Given the description of an element on the screen output the (x, y) to click on. 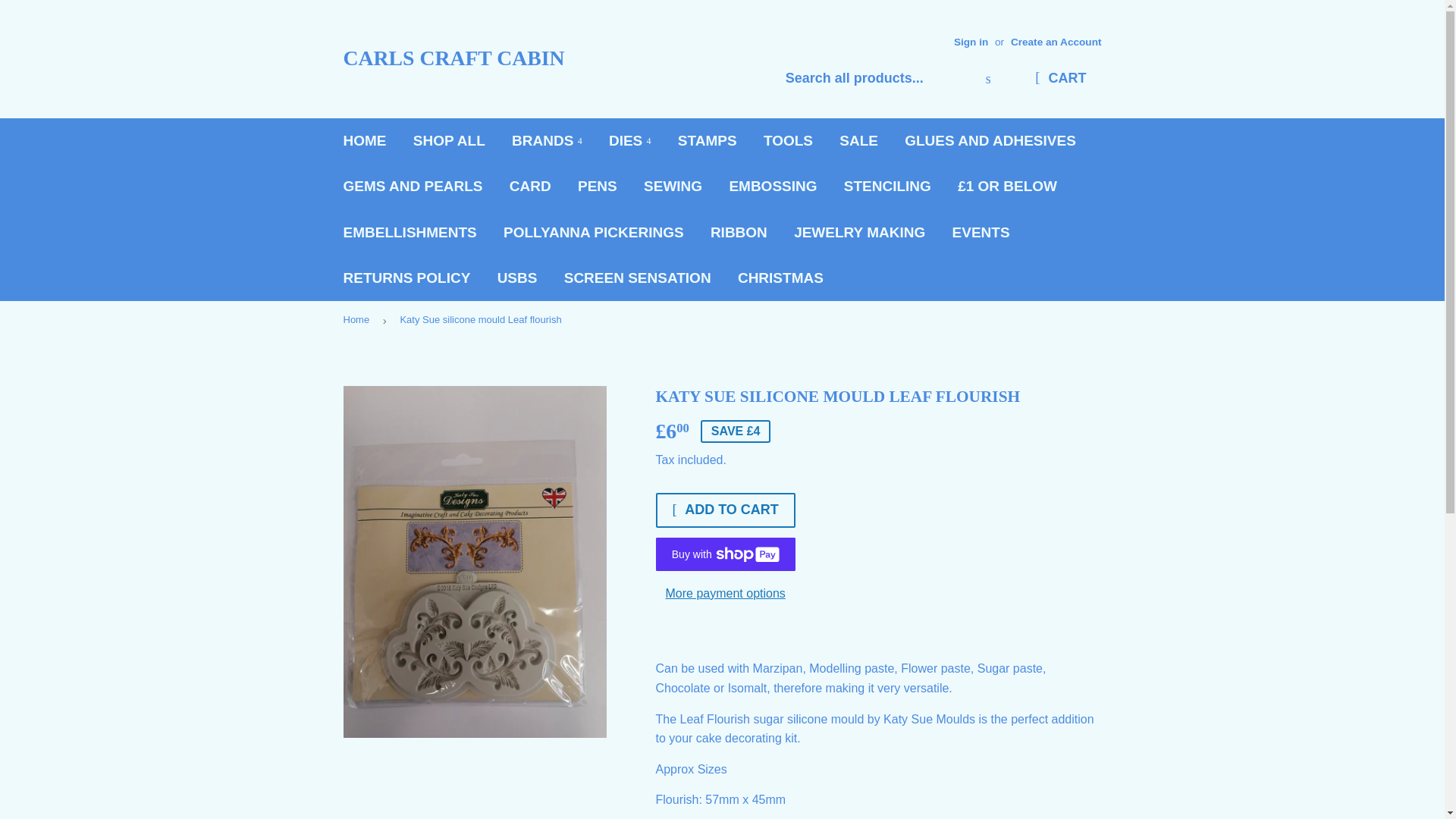
Sign in (970, 41)
Search (988, 79)
CARLS CRAFT CABIN (532, 58)
CART (1060, 78)
Create an Account (1056, 41)
